Given the description of an element on the screen output the (x, y) to click on. 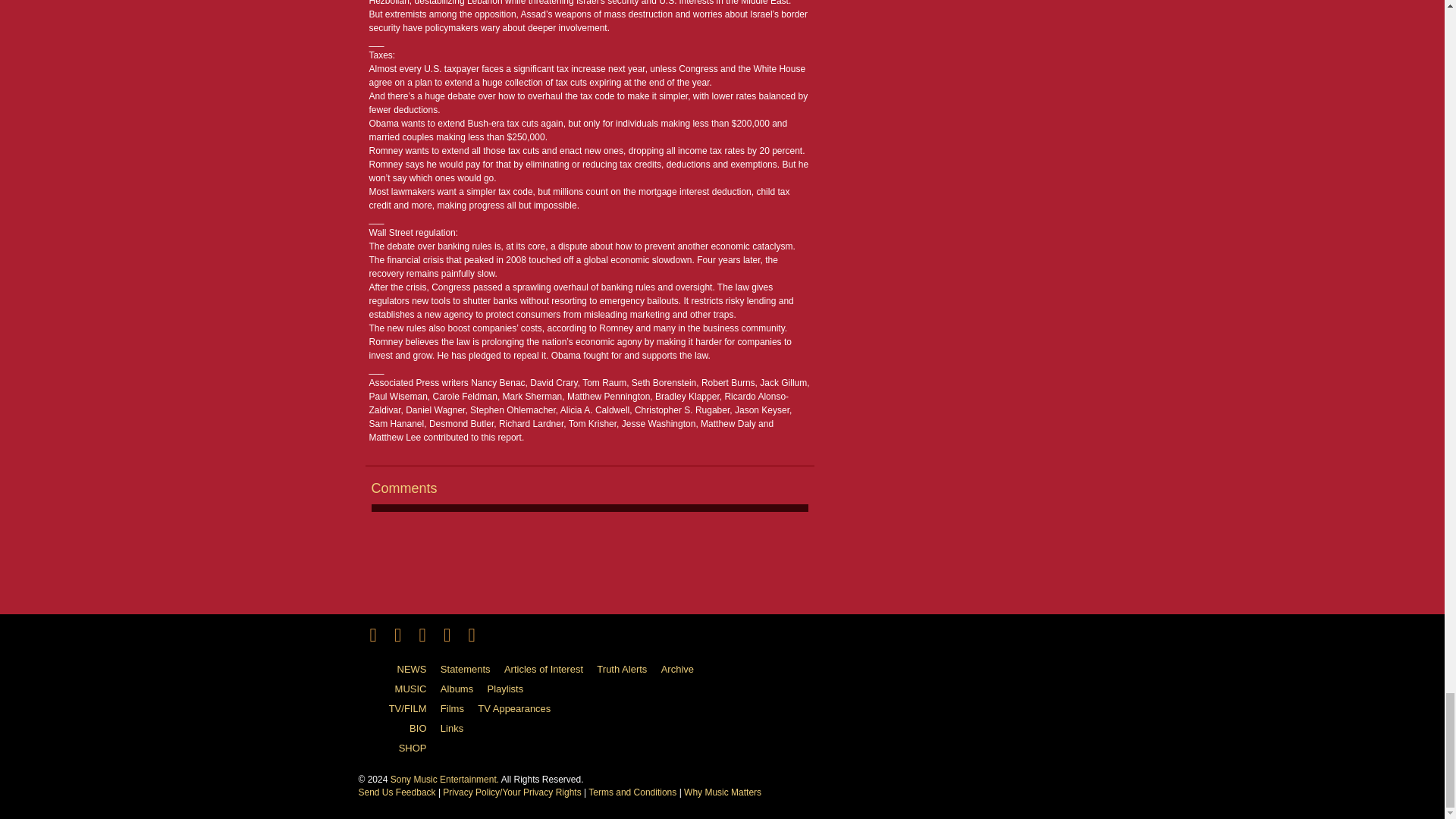
Statements (471, 669)
Playlists (511, 689)
Archive (682, 669)
NEWS (398, 669)
Articles of Interest (548, 669)
MUSIC (398, 689)
Albums (462, 689)
Truth Alerts (627, 669)
